Given the description of an element on the screen output the (x, y) to click on. 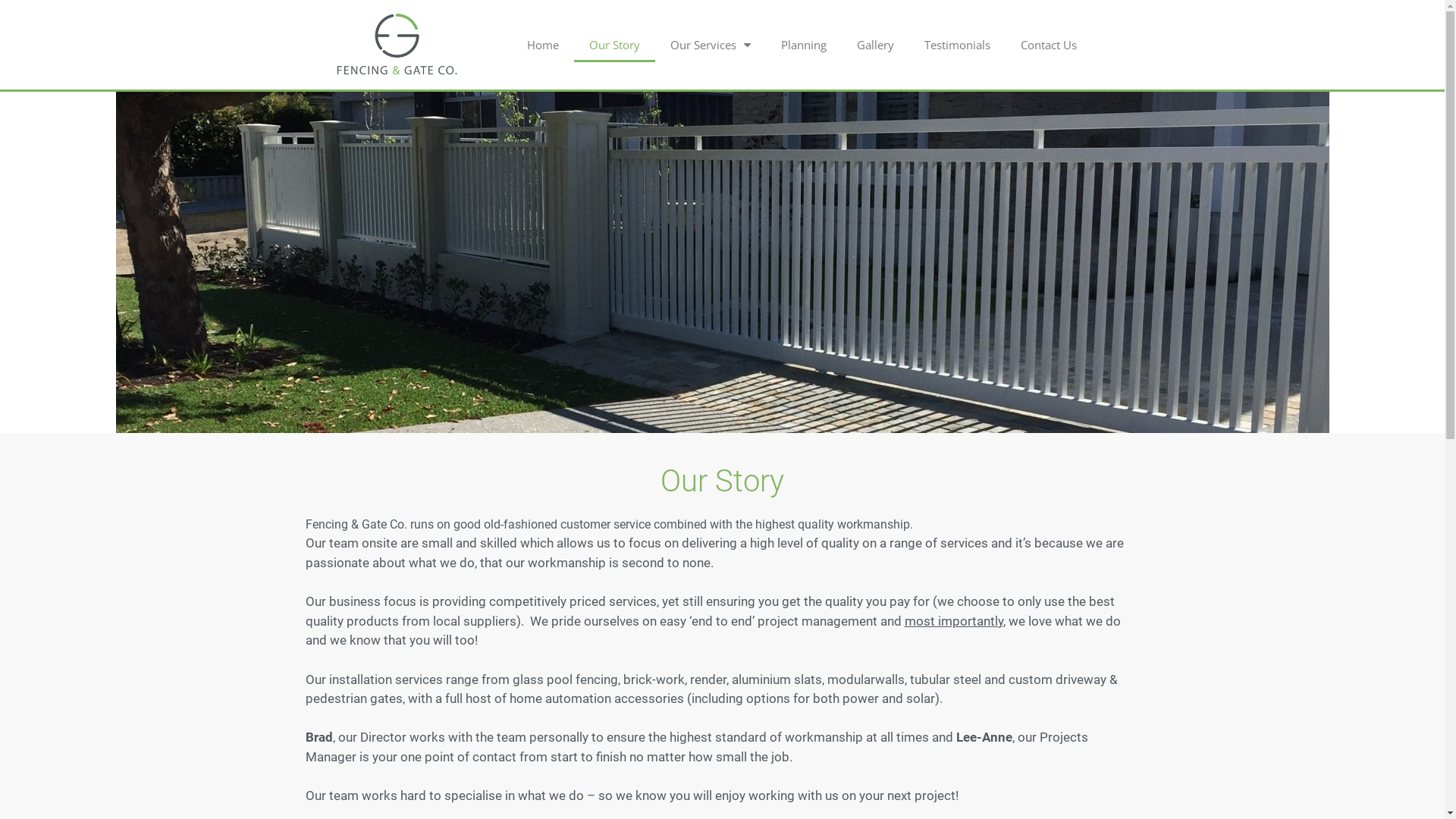
Woodlands3 Element type: hover (721, 262)
Contact Us Element type: text (1048, 44)
Planning Element type: text (803, 44)
Gallery Element type: text (875, 44)
Home Element type: text (542, 44)
cropped-65022_BKP_KB_B-1-1.png Element type: hover (396, 44)
Our Services Element type: text (710, 44)
Testimonials Element type: text (957, 44)
Our Story Element type: text (614, 44)
